Given the description of an element on the screen output the (x, y) to click on. 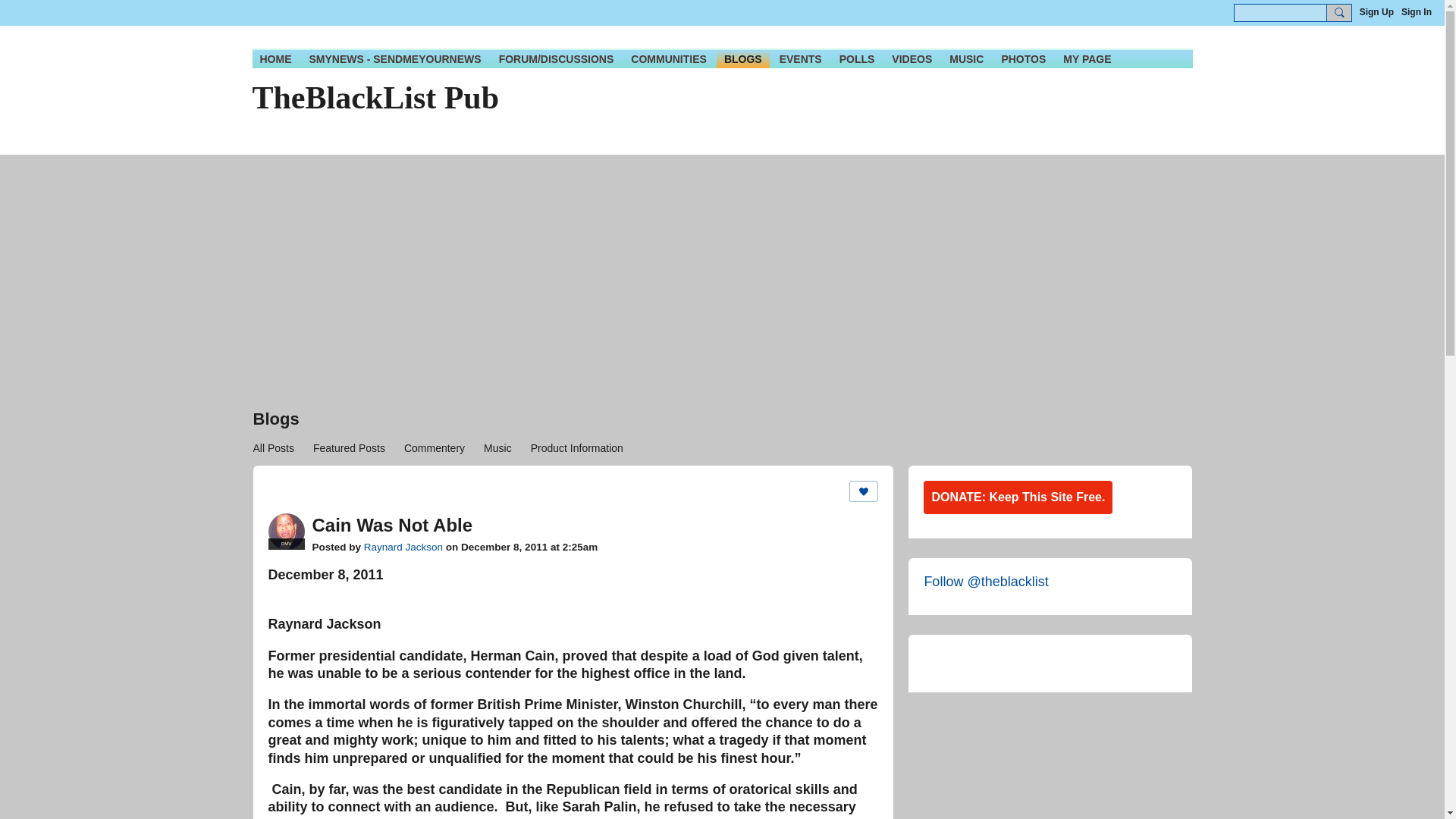
SMYNEWS - SENDMEYOURNEWS (395, 58)
HOME (274, 58)
BLOGS (743, 58)
Commentery (434, 447)
Sign In (1415, 12)
COMMUNITIES (668, 58)
TheBlackList Pub (375, 97)
PHOTOS (1022, 58)
MY PAGE (1086, 58)
All Posts (273, 447)
Sign Up (1376, 12)
Product Information (577, 447)
Promote (862, 491)
Featured Posts (349, 447)
